Given the description of an element on the screen output the (x, y) to click on. 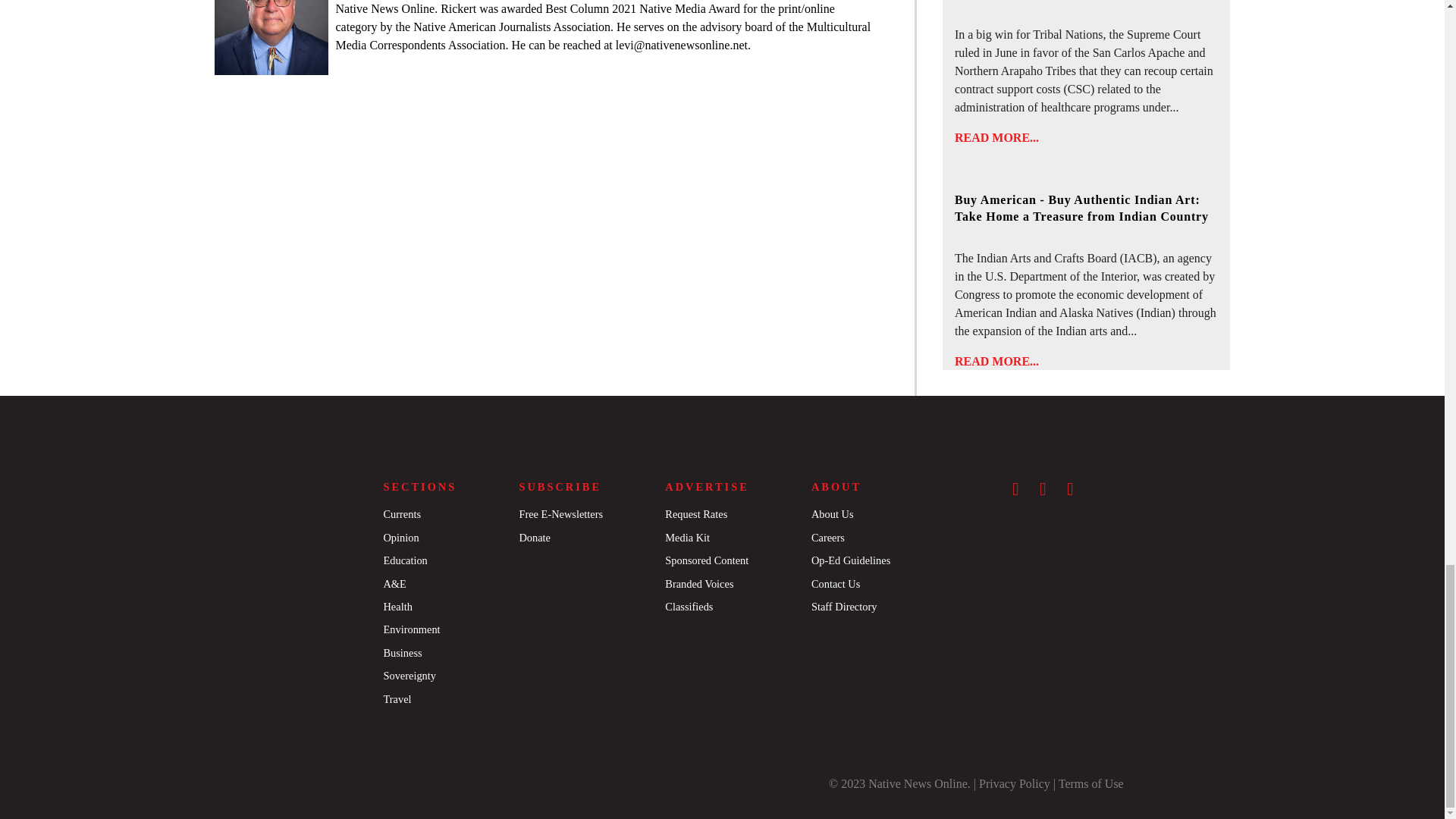
Sponsored Content (706, 560)
Branded Voices (699, 583)
Sovereignty (408, 675)
Donate (534, 537)
Media Kit (687, 537)
Request Rates (695, 513)
Business (402, 653)
Travel (396, 698)
Currents (401, 513)
Opinion (400, 537)
